Given the description of an element on the screen output the (x, y) to click on. 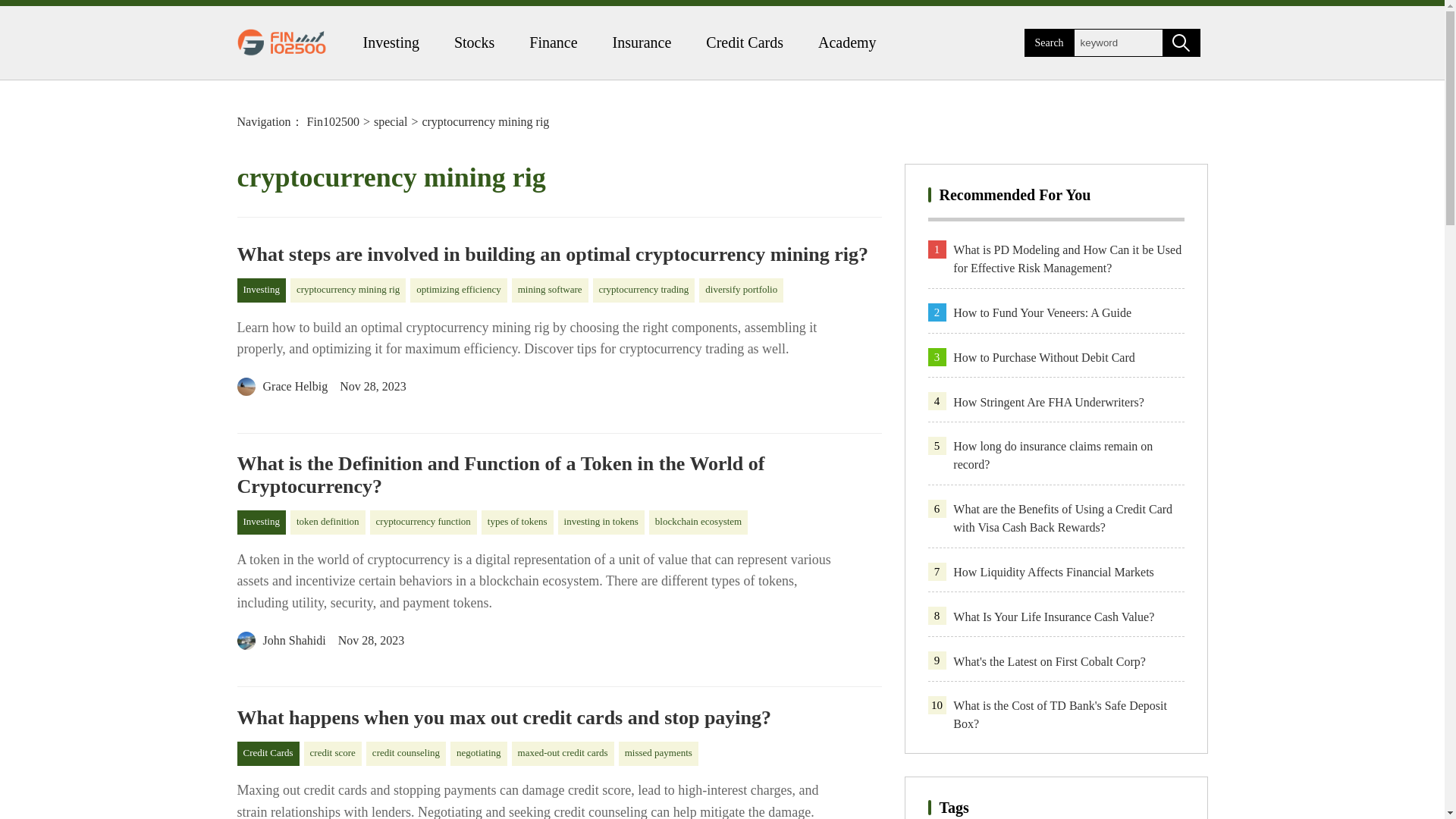
Investing (260, 522)
token definition (327, 522)
Academy (847, 42)
Search (1180, 42)
cryptocurrency trading (643, 290)
Investing (260, 290)
Insurance (641, 42)
cryptocurrency mining rig (347, 290)
optimizing efficiency (458, 290)
cryptocurrency function (423, 522)
Grace Helbig (281, 386)
Fin102500 (333, 121)
Stocks (474, 42)
What happens when you max out credit cards and stop paying? (557, 717)
